Given the description of an element on the screen output the (x, y) to click on. 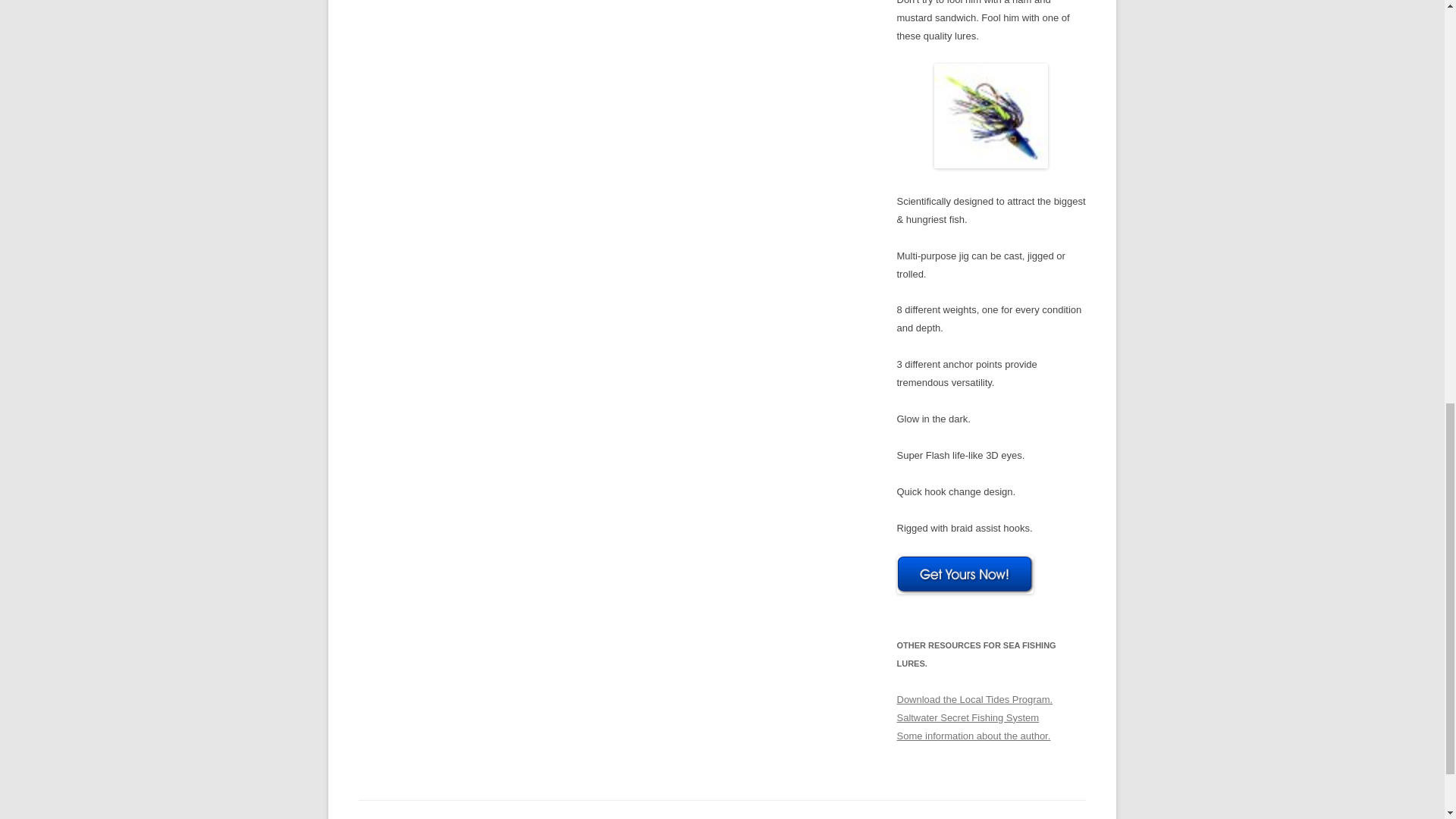
Download the Local Tides Program. (974, 699)
Some information about the author. (972, 736)
Saltwater Secret Fishing System (967, 717)
